Given the description of an element on the screen output the (x, y) to click on. 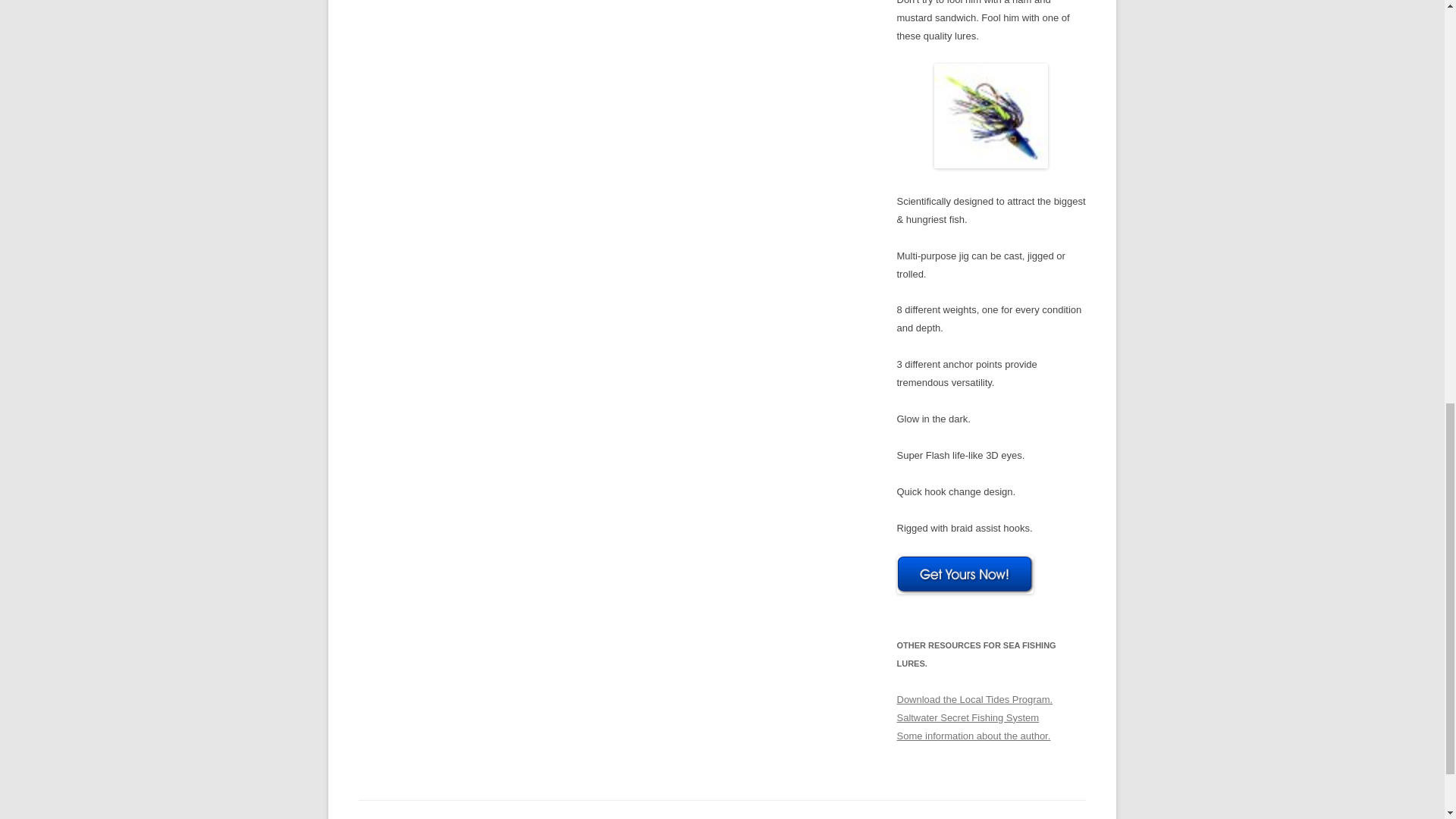
Download the Local Tides Program. (974, 699)
Some information about the author. (972, 736)
Saltwater Secret Fishing System (967, 717)
